Given the description of an element on the screen output the (x, y) to click on. 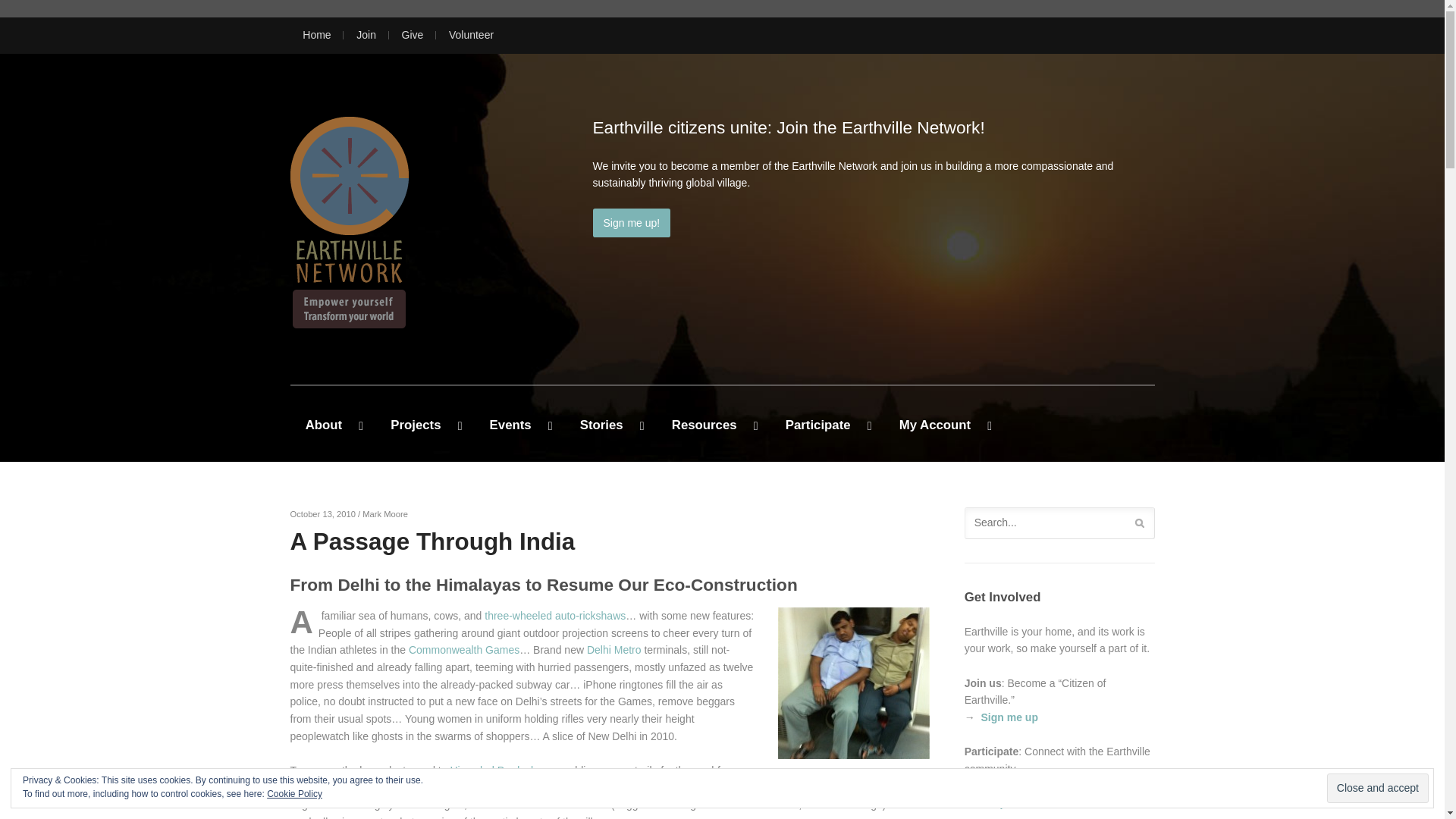
Volunteer (470, 35)
Join (365, 35)
About (332, 422)
Projects (424, 422)
Sign me up! (631, 222)
Home (316, 35)
Close and accept (1377, 788)
Give (412, 35)
Posts by Mark Moore (384, 513)
